Given the description of an element on the screen output the (x, y) to click on. 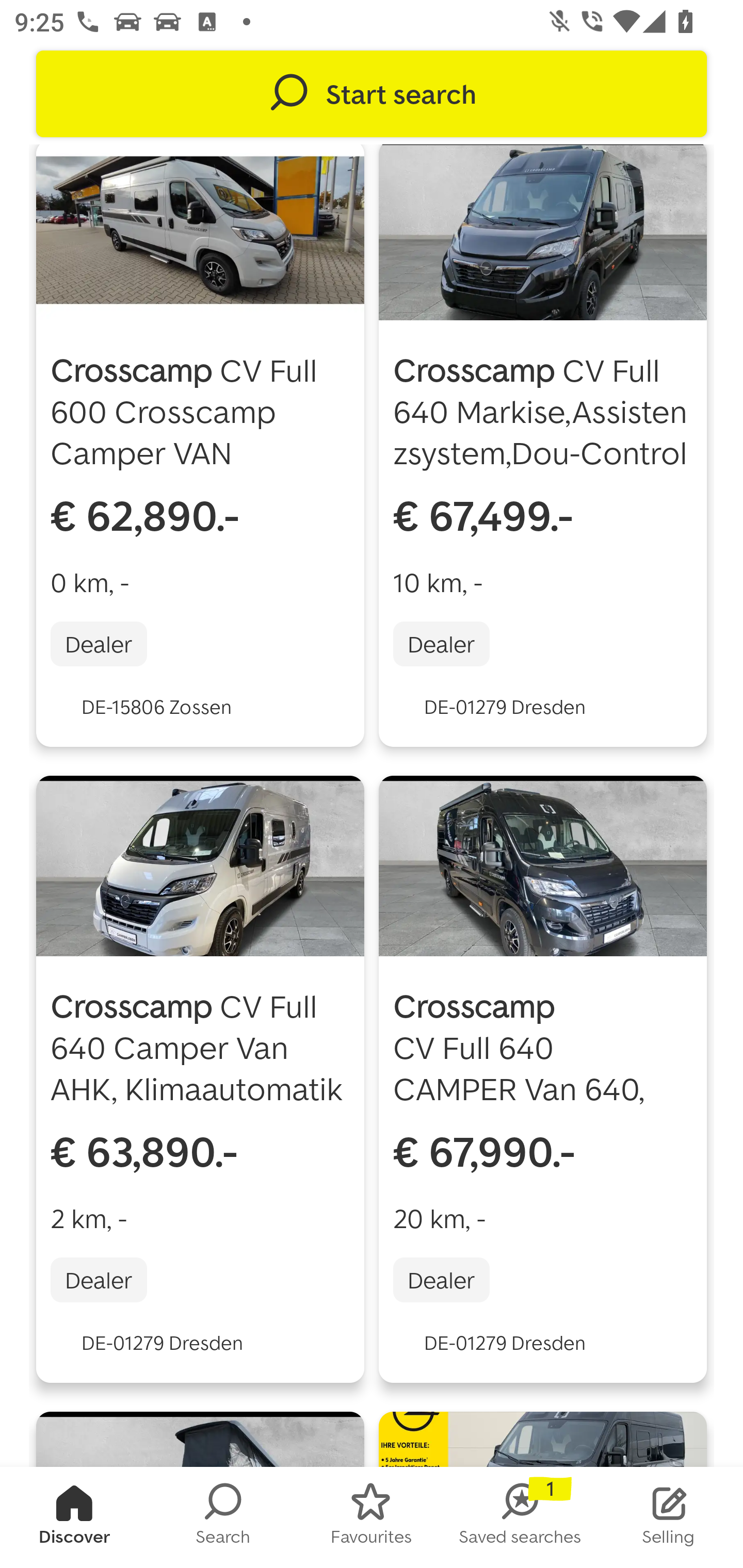
Start search (371, 93)
HOMESCREEN Discover (74, 1517)
SEARCH Search (222, 1517)
FAVORITES Favourites (371, 1517)
SAVED_SEARCHES Saved searches 1 (519, 1517)
STOCK_LIST Selling (668, 1517)
